Given the description of an element on the screen output the (x, y) to click on. 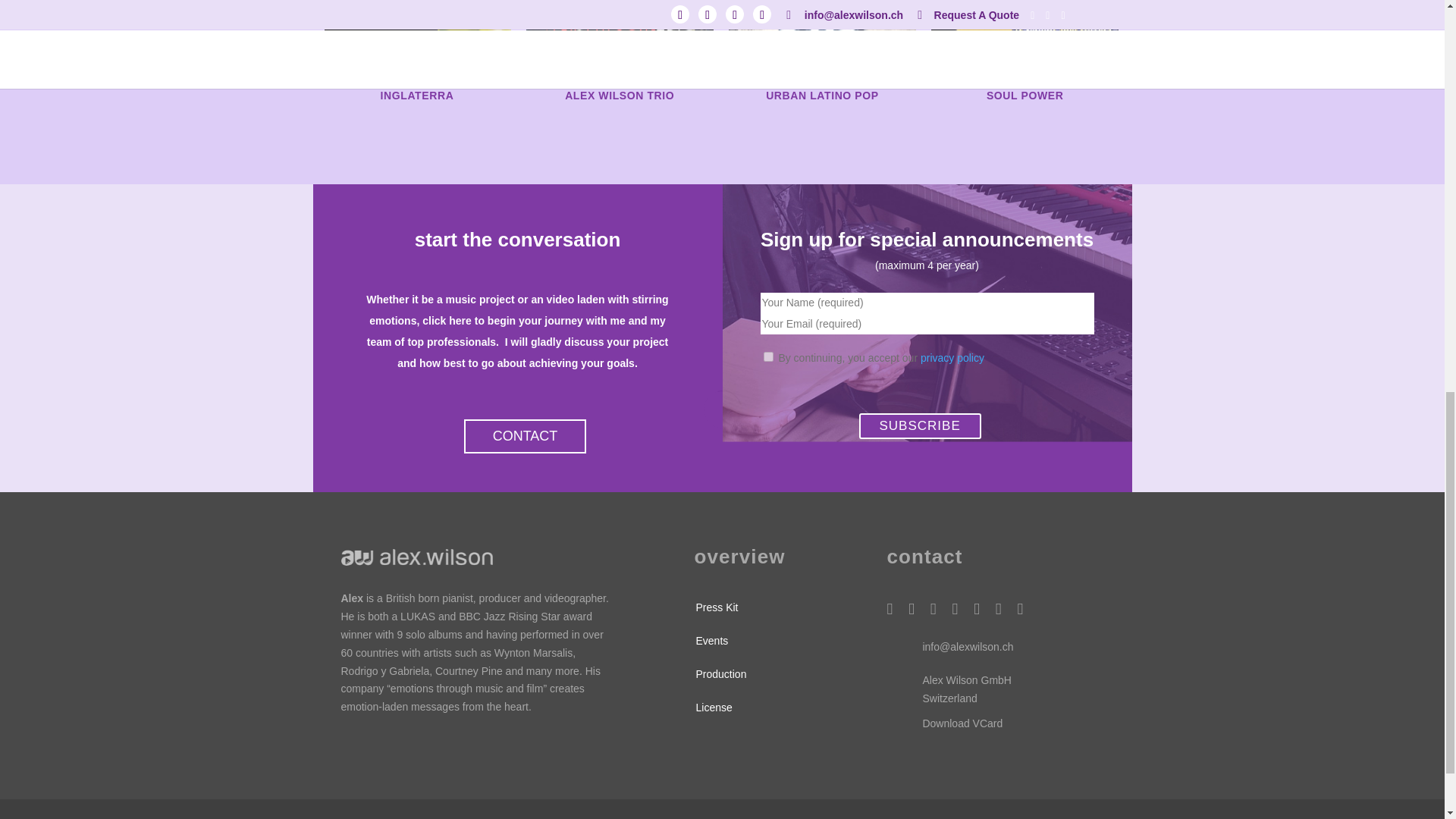
INGLATERRA (417, 95)
SUBSCRIBE (919, 425)
on (767, 356)
